Given the description of an element on the screen output the (x, y) to click on. 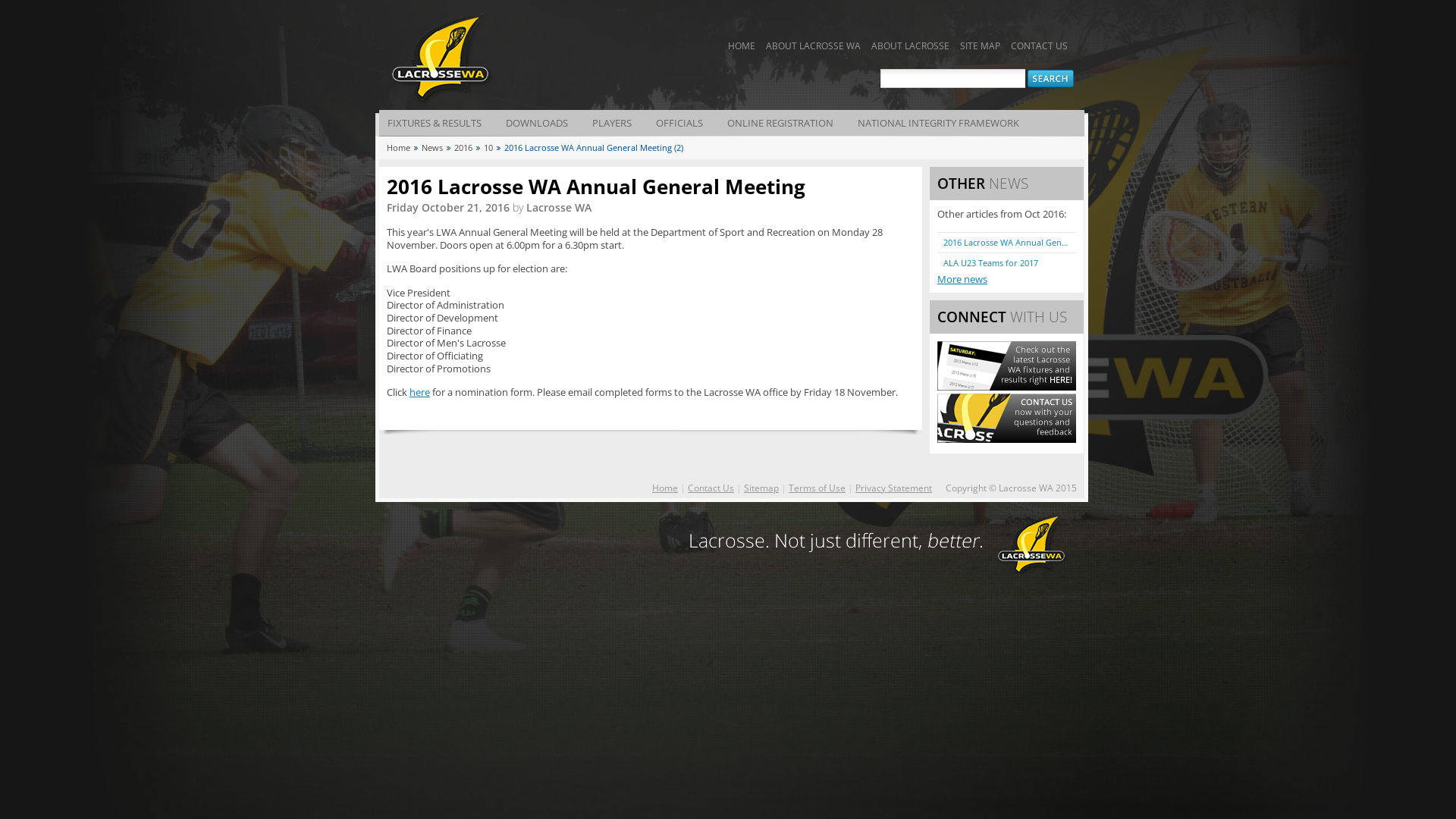
DOWNLOADS Element type: text (536, 122)
News Element type: text (431, 147)
2016 Lacrosse WA Annual General Meeting Element type: text (1006, 242)
ALA U23 Teams for 2017 Element type: text (1006, 263)
FIXTURES & RESULTS Element type: text (434, 122)
OFFICIALS Element type: text (679, 122)
Home Element type: text (398, 147)
Lacrosse WA Element type: hover (493, 56)
NATIONAL INTEGRITY FRAMEWORK Element type: text (938, 122)
Privacy Statement Element type: text (893, 487)
ABOUT LACROSSE WA Element type: text (813, 45)
Check the latest FIXTURES and RESULTS now! Element type: hover (1006, 386)
More news Element type: text (962, 278)
SITE MAP Element type: text (979, 45)
here Element type: text (419, 391)
2016 Element type: text (463, 147)
HOME Element type: text (741, 45)
ABOUT LACROSSE Element type: text (910, 45)
Home Element type: text (664, 487)
10 Element type: text (487, 147)
Sitemap Element type: text (760, 487)
Contact Us Element type: text (710, 487)
Search Element type: text (1050, 78)
CONTACT US Element type: text (1039, 45)
PLAYERS Element type: text (611, 122)
Terms of Use Element type: text (816, 487)
ONLINE REGISTRATION Element type: text (780, 122)
